Given the description of an element on the screen output the (x, y) to click on. 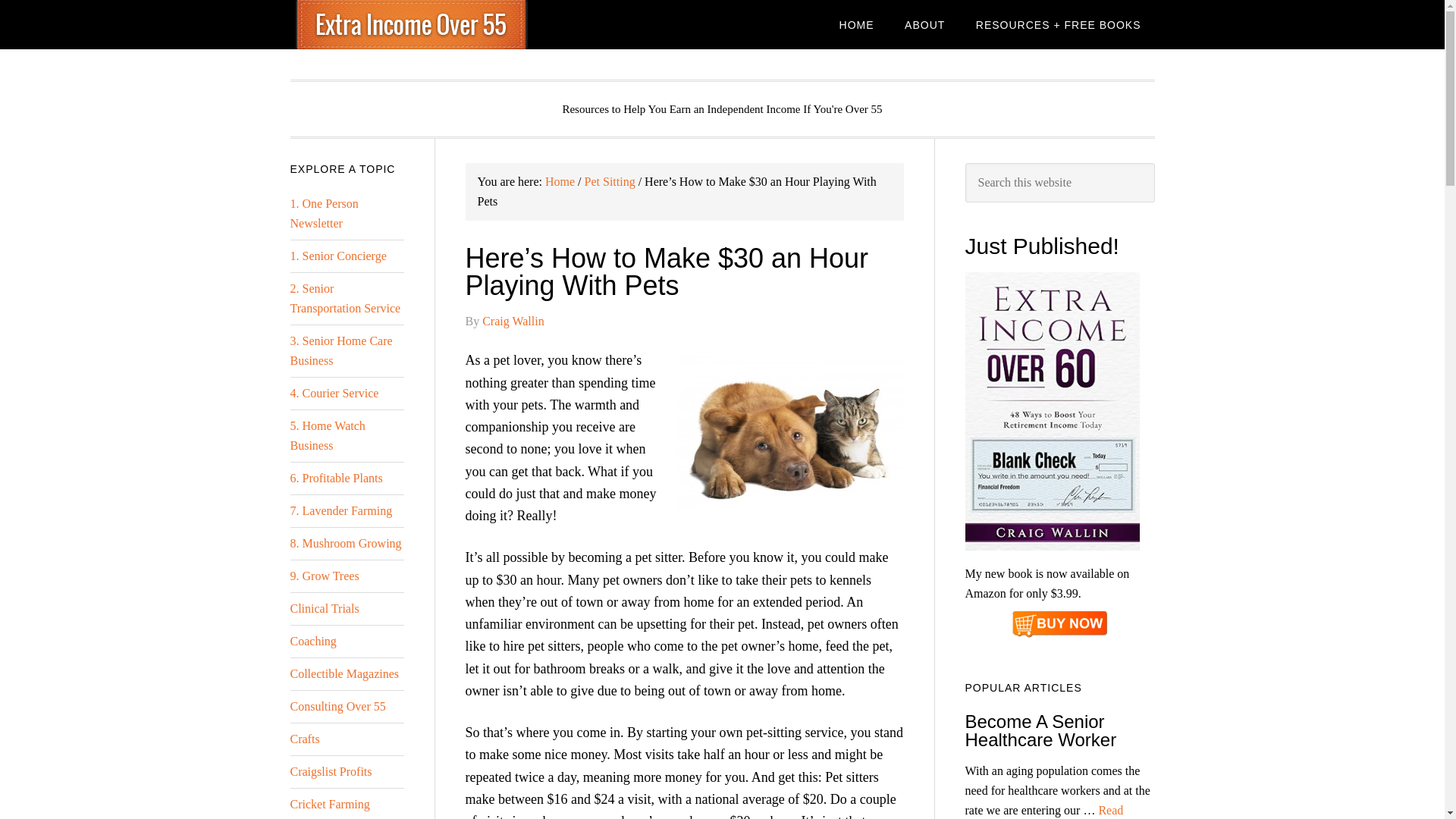
EXTRA INCOME OVER 55 (410, 24)
Craig Wallin (512, 320)
Read More... (1042, 811)
Become A Senior Healthcare Worker (1039, 730)
HOME (856, 24)
ABOUT (924, 24)
Pet Sitting (609, 181)
